Given the description of an element on the screen output the (x, y) to click on. 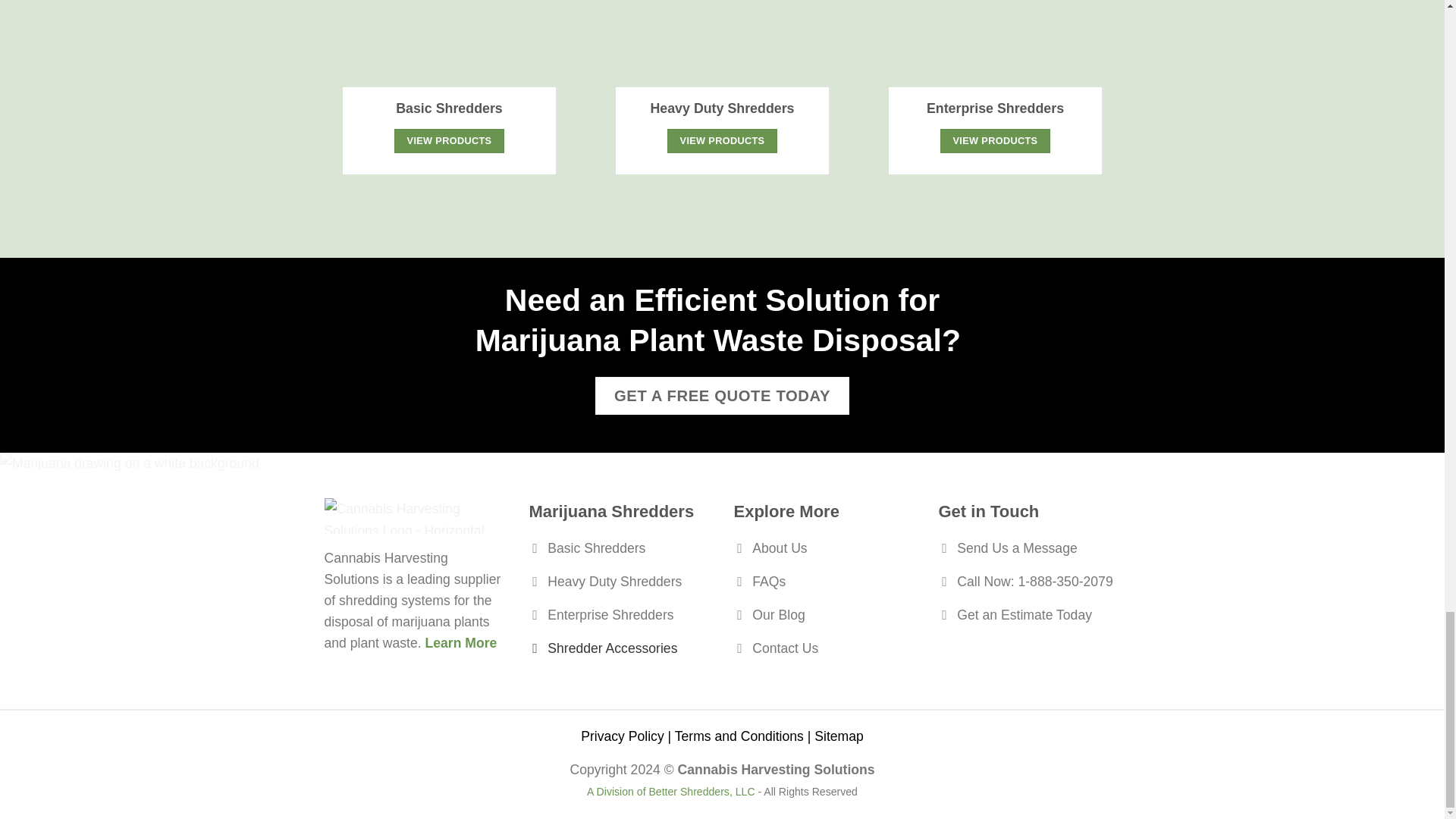
VIEW PRODUCTS (448, 140)
VIEW PRODUCTS (721, 140)
GET A FREE QUOTE TODAY (722, 395)
Heavy Duty Shredders (620, 583)
Basic Shredders (620, 550)
VIEW PRODUCTS (994, 140)
Learn More (461, 642)
